Given the description of an element on the screen output the (x, y) to click on. 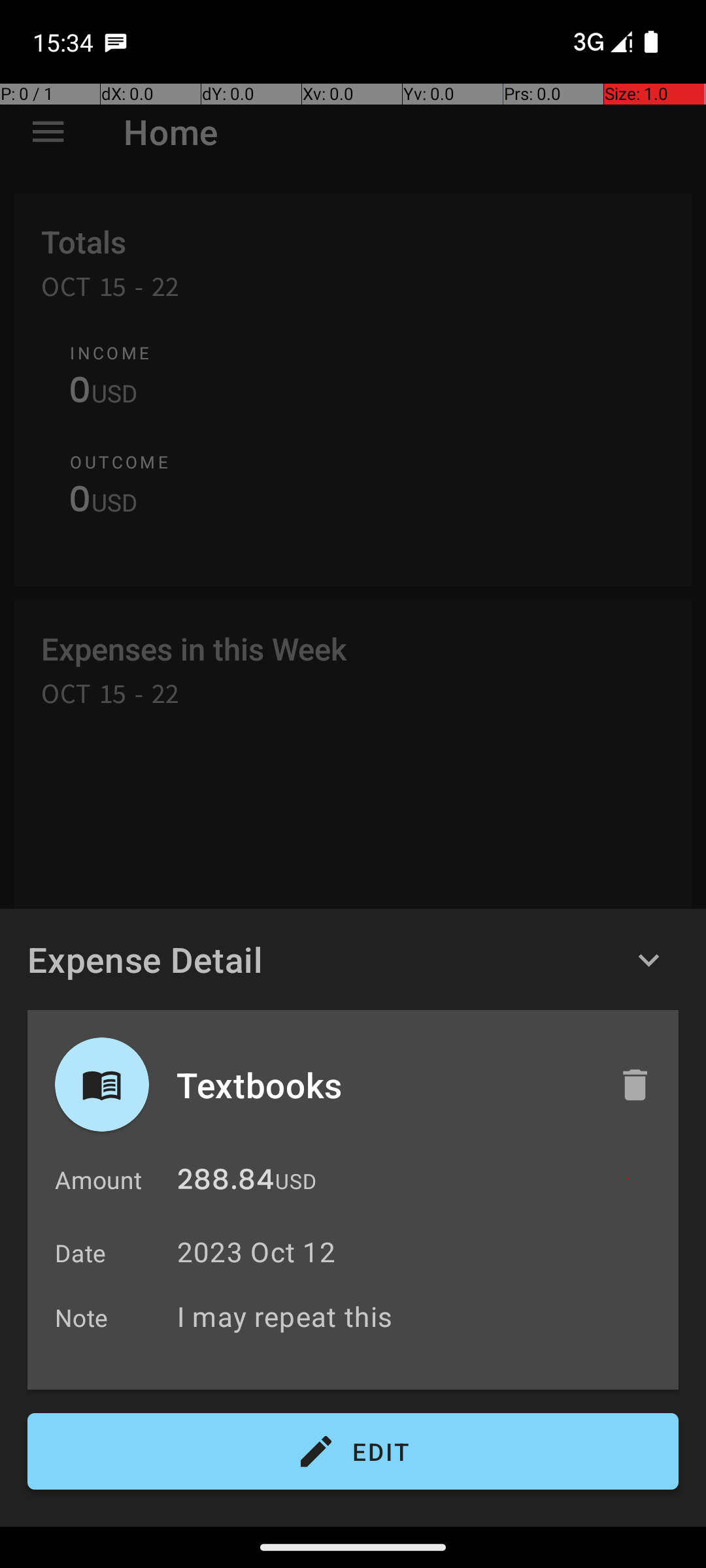
Textbooks Element type: android.widget.TextView (383, 1084)
288.84 Element type: android.widget.TextView (225, 1182)
I may repeat this Element type: android.widget.TextView (420, 1315)
